Given the description of an element on the screen output the (x, y) to click on. 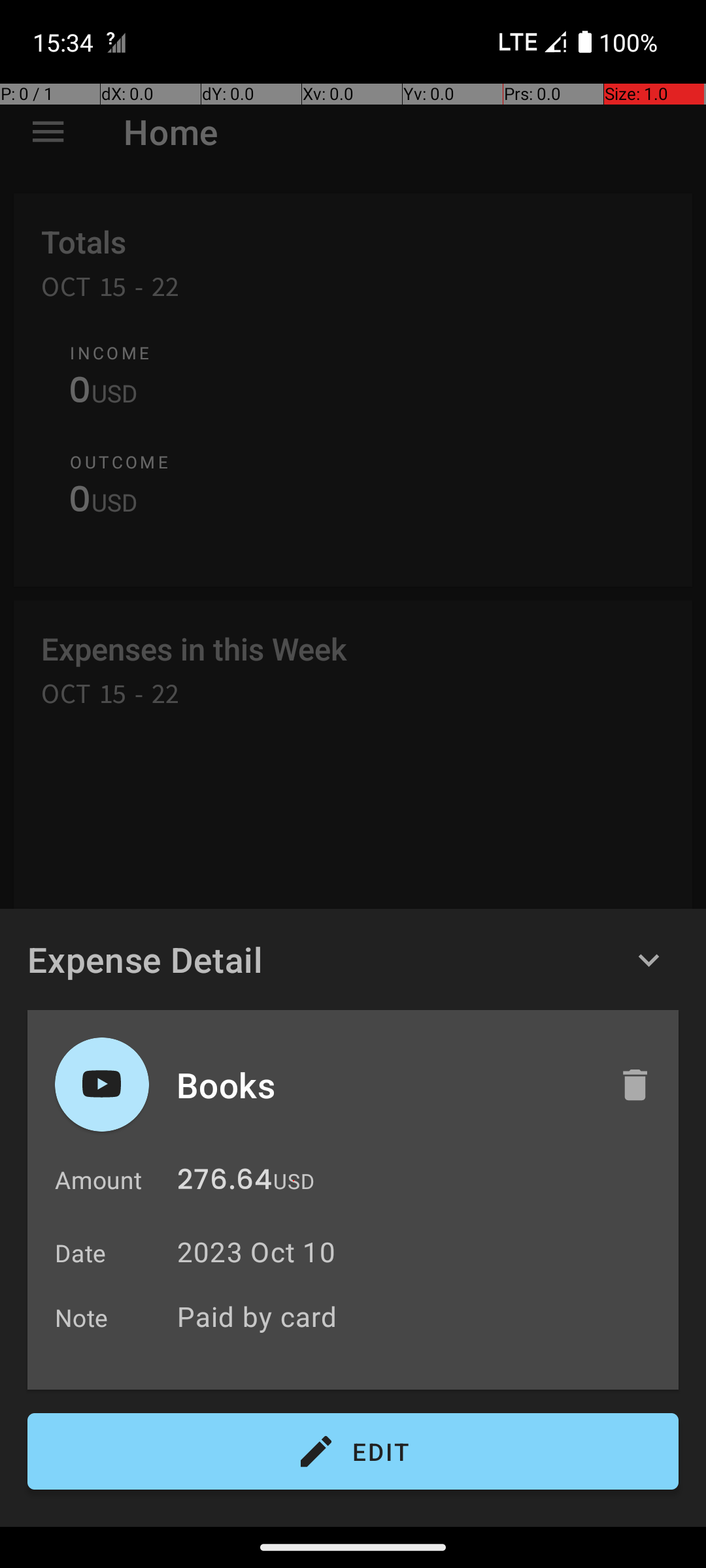
Books Element type: android.widget.TextView (383, 1084)
276.64 Element type: android.widget.TextView (224, 1182)
